Given the description of an element on the screen output the (x, y) to click on. 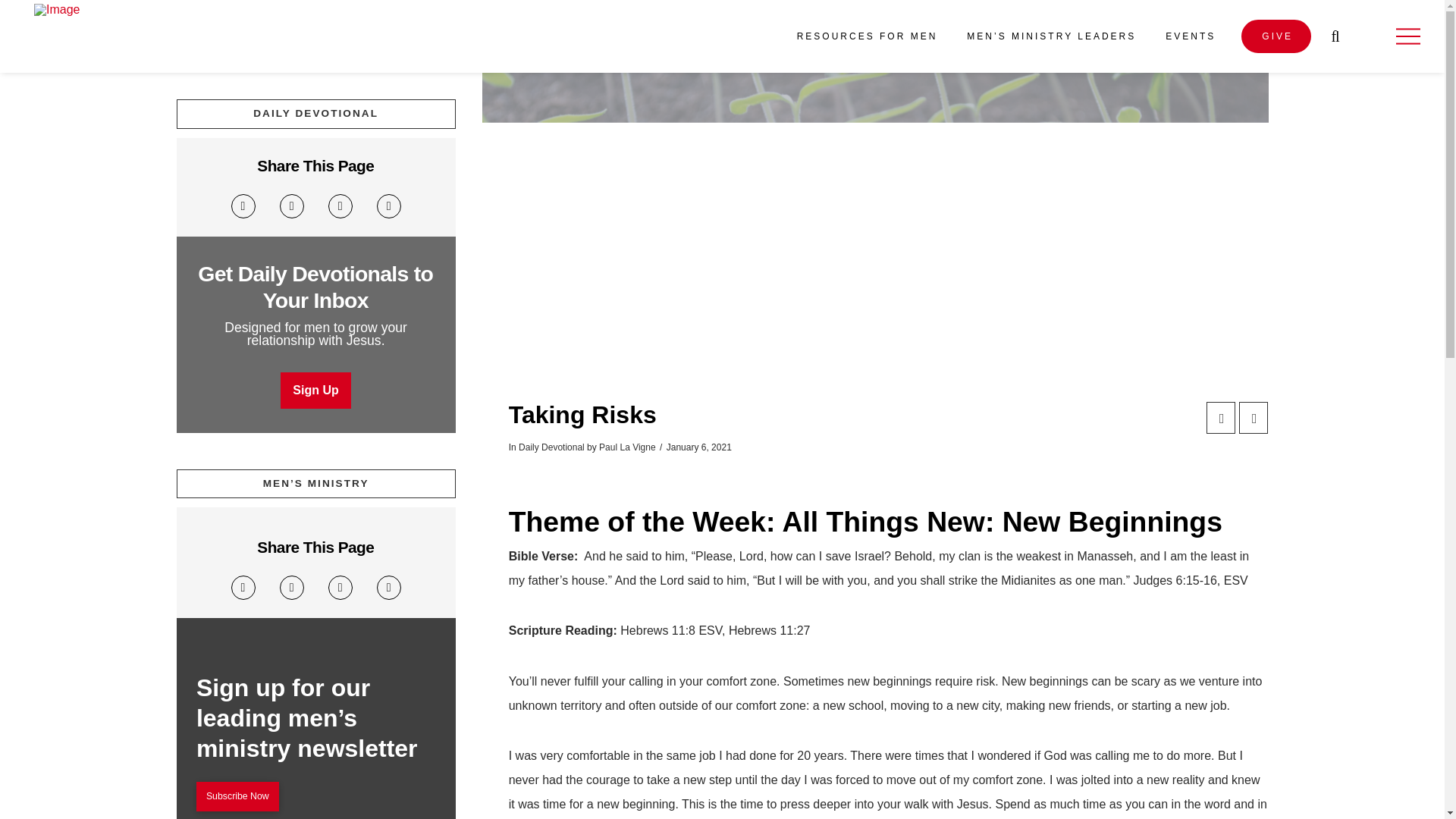
EVENTS (1189, 36)
Daily Devotional (551, 447)
Paul La Vigne (627, 447)
GIVE (1276, 36)
RESOURCES FOR MEN (866, 36)
